Given the description of an element on the screen output the (x, y) to click on. 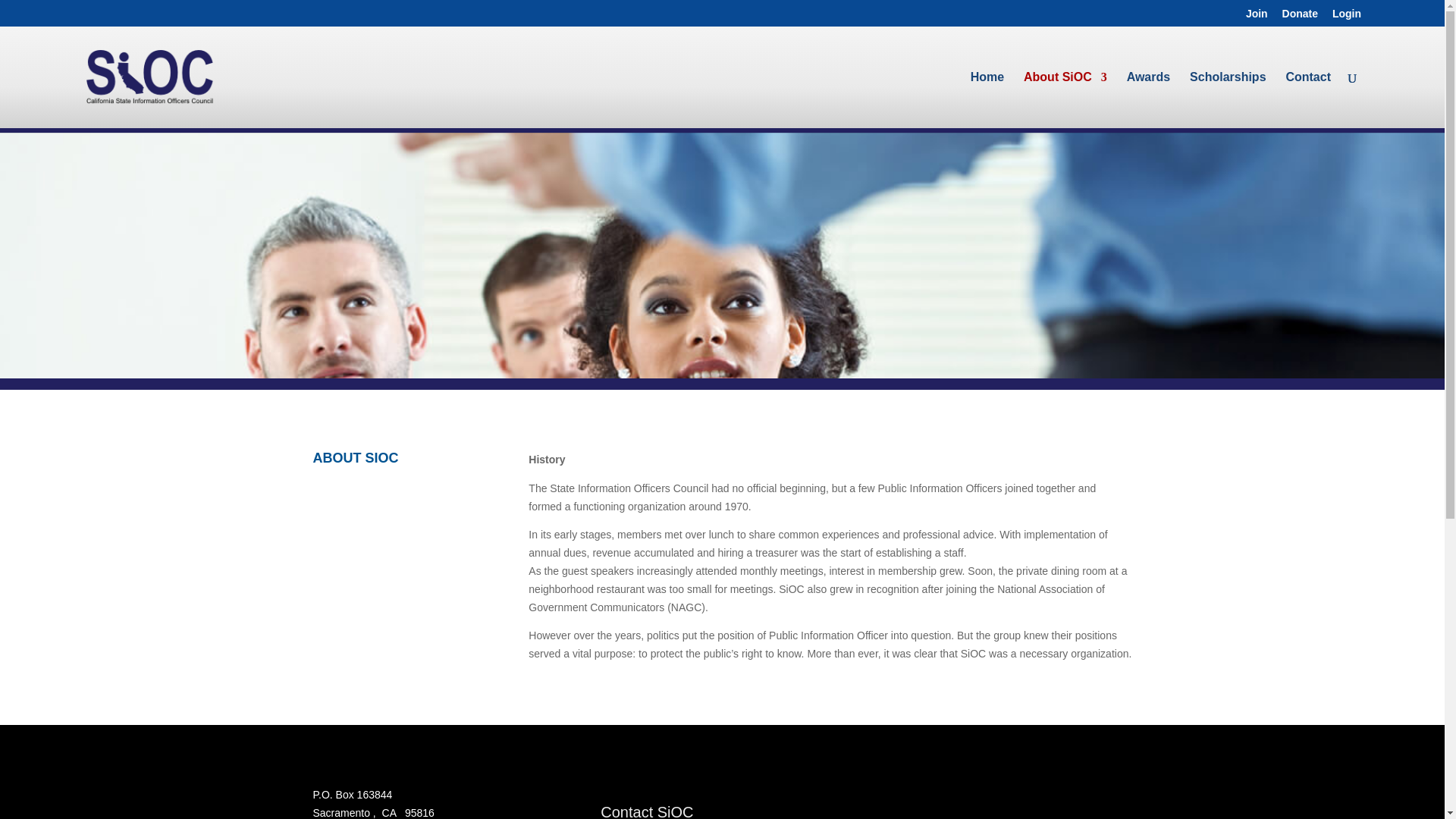
Join (1257, 16)
Login (1346, 16)
Donate (1299, 16)
Contact (1307, 92)
Awards (1148, 92)
About SiOC (1064, 92)
Scholarships (1227, 92)
